Given the description of an element on the screen output the (x, y) to click on. 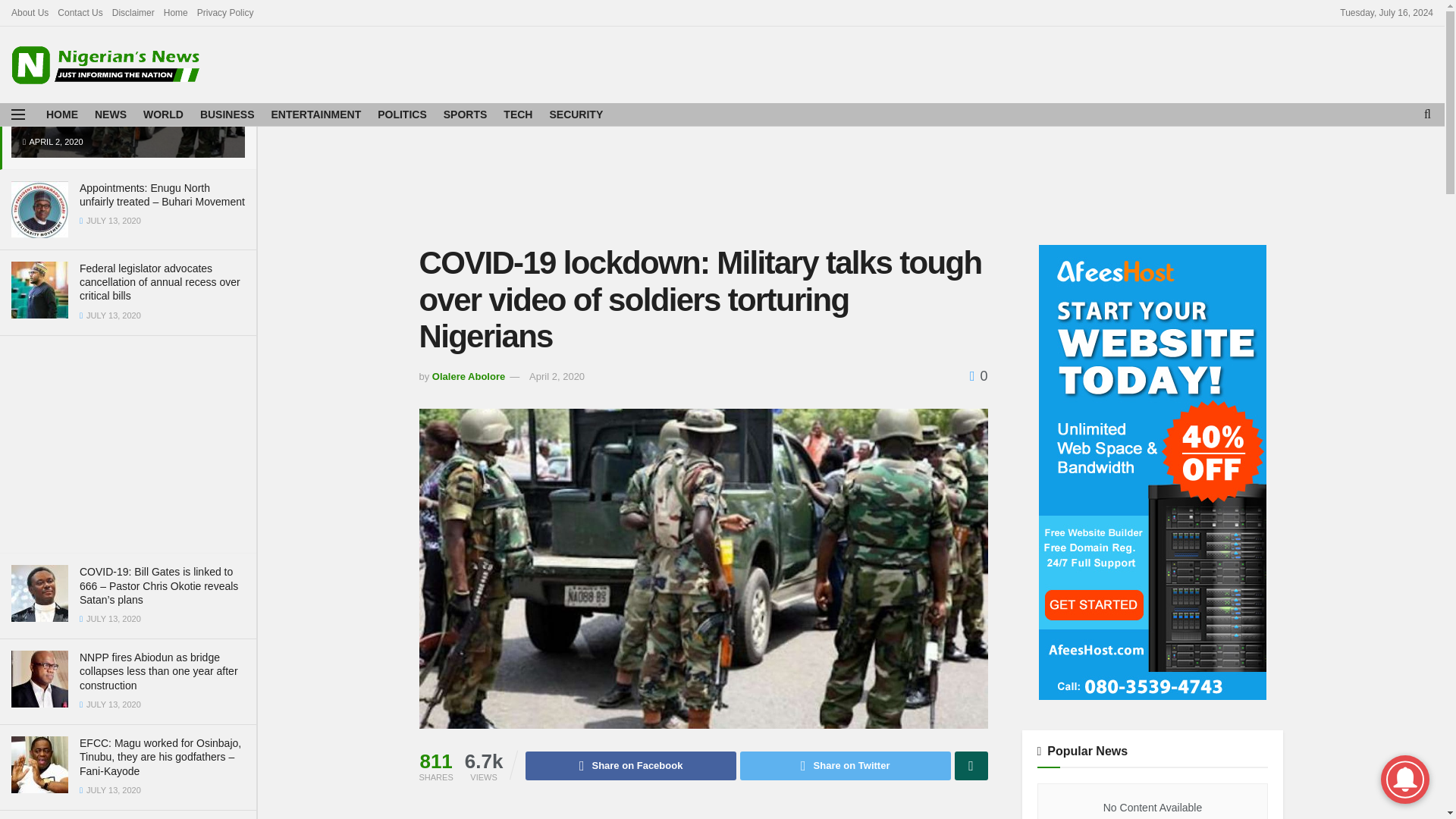
About Us (29, 12)
POLITICS (401, 114)
Advertisement (851, 183)
Home (175, 12)
WORLD (162, 114)
Advertisement (703, 812)
ENTERTAINMENT (315, 114)
Advertisement (127, 442)
Contact Us (79, 12)
Advertisement (1064, 61)
Disclaimer (133, 12)
BUSINESS (227, 114)
